Given the description of an element on the screen output the (x, y) to click on. 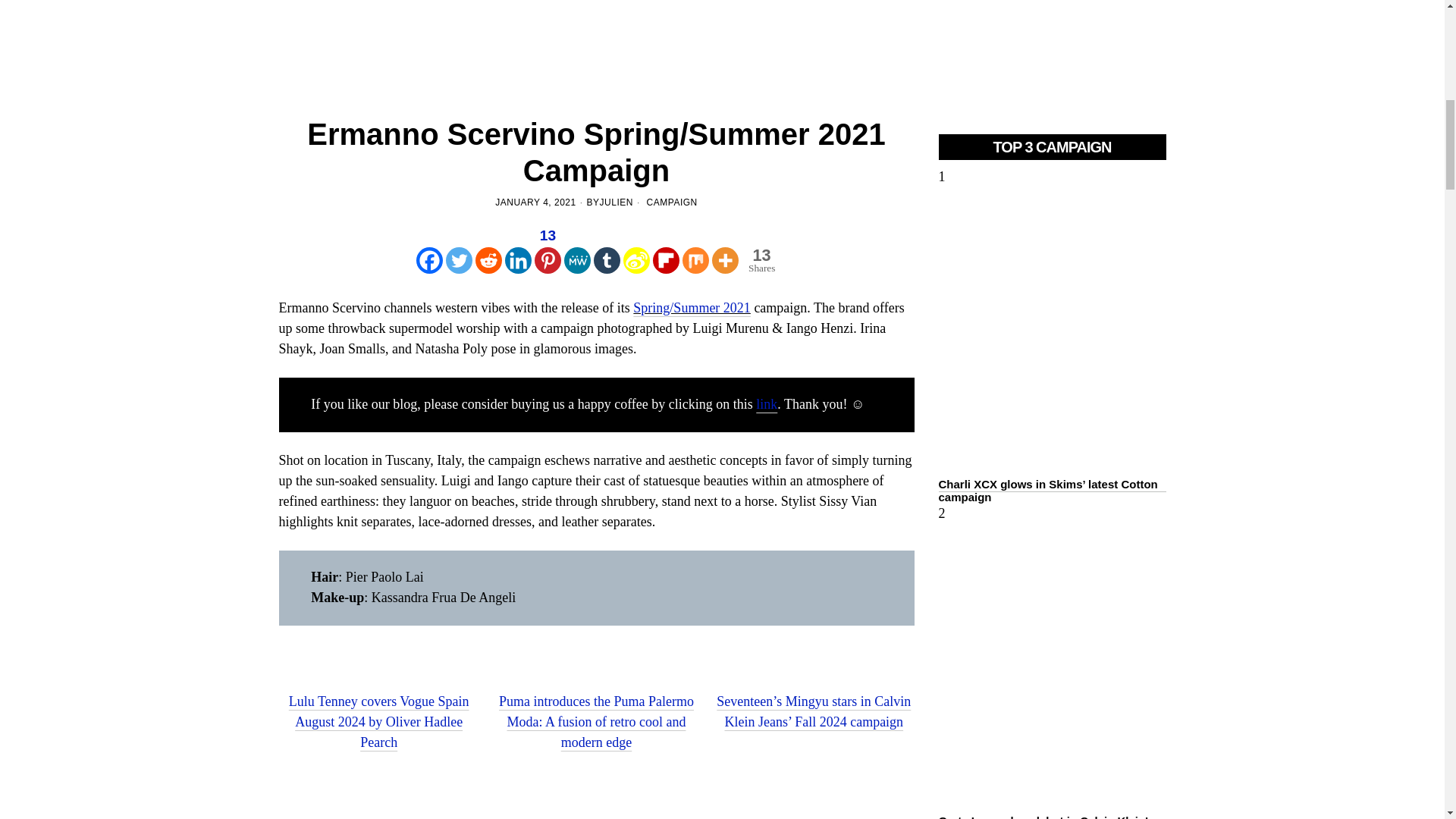
JULIEN (616, 202)
04 Jan, 2021 09:00:45 (535, 202)
CAMPAIGN (671, 202)
